Given the description of an element on the screen output the (x, y) to click on. 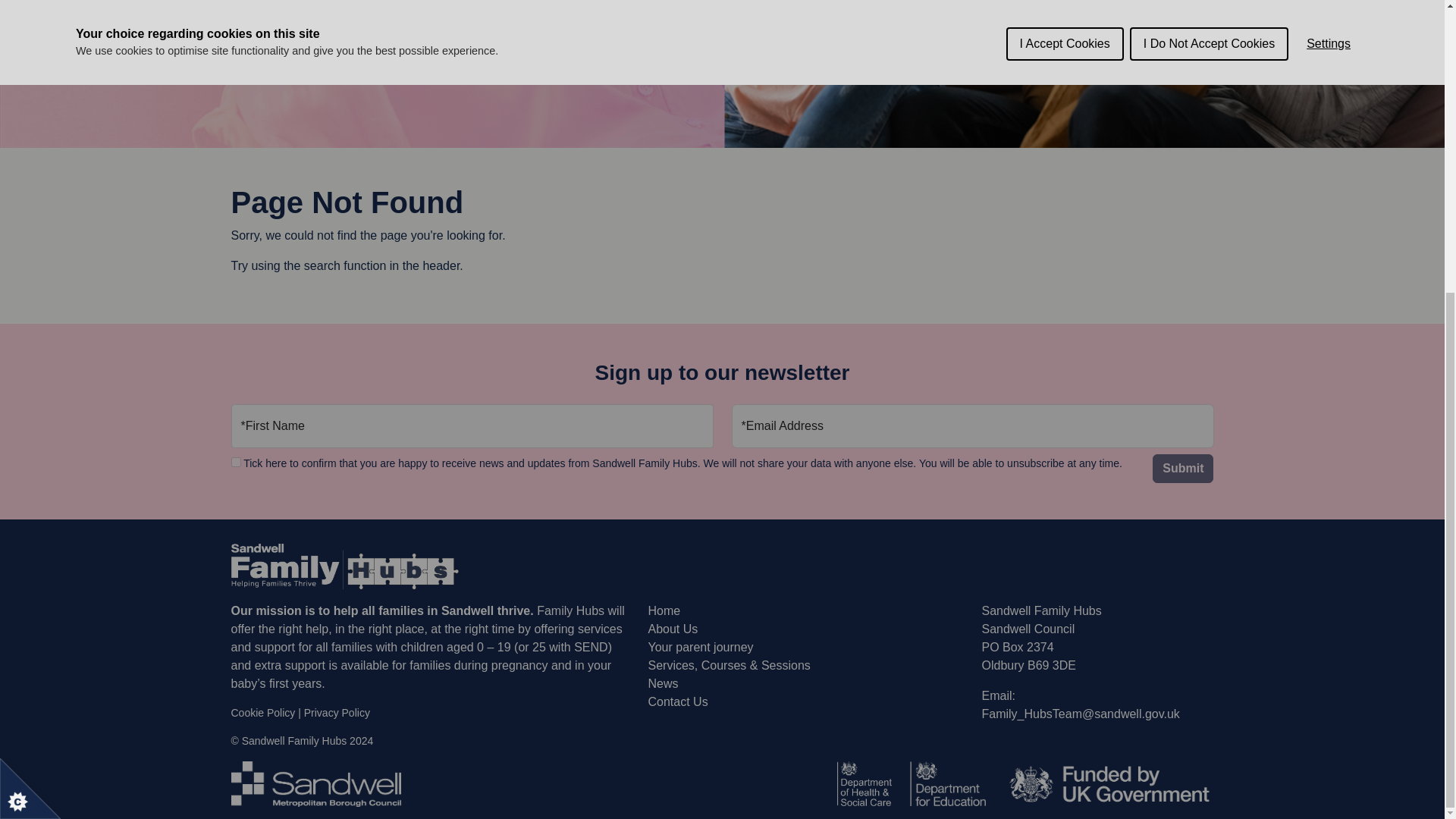
true (235, 461)
Your parent journey (699, 646)
News (662, 683)
Privacy Policy (336, 712)
Submit (1182, 468)
About Us (672, 628)
Cookie Policy (262, 712)
Contact Us (677, 701)
Home (663, 610)
